Given the description of an element on the screen output the (x, y) to click on. 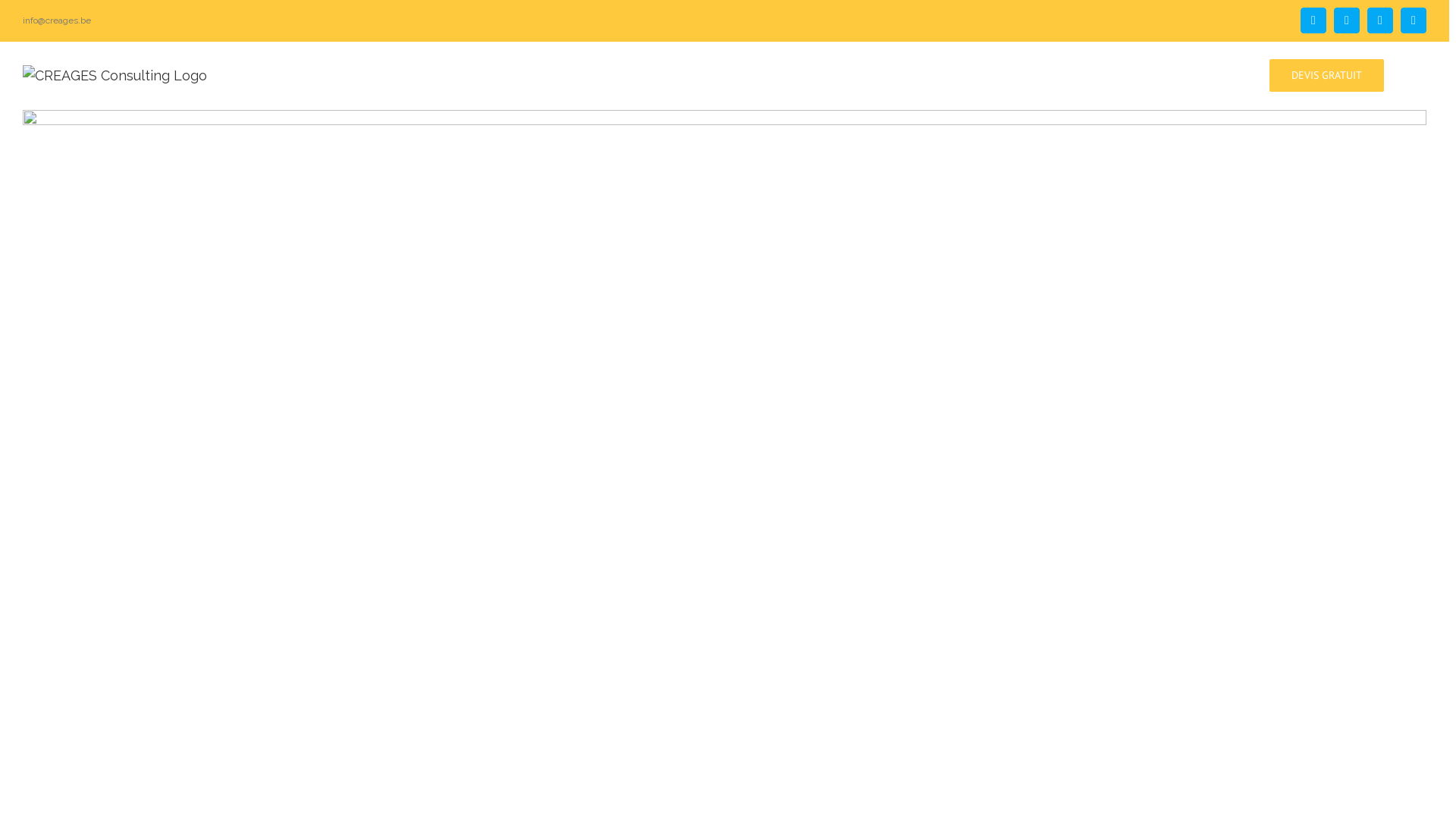
FORMATION Element type: text (887, 73)
COACHING Element type: text (976, 73)
facebook Element type: text (1313, 20)
linkedin Element type: text (1413, 20)
CONSULTANCE Element type: text (786, 73)
CONTACT Element type: text (1220, 73)
DEVIS GRATUIT Element type: text (1326, 73)
NEWS Element type: text (1152, 73)
info@creages.be Element type: text (56, 20)
instagram Element type: text (1380, 20)
COM DIGITALE Element type: text (1071, 73)
twitter Element type: text (1346, 20)
HOME Element type: text (703, 73)
